Given the description of an element on the screen output the (x, y) to click on. 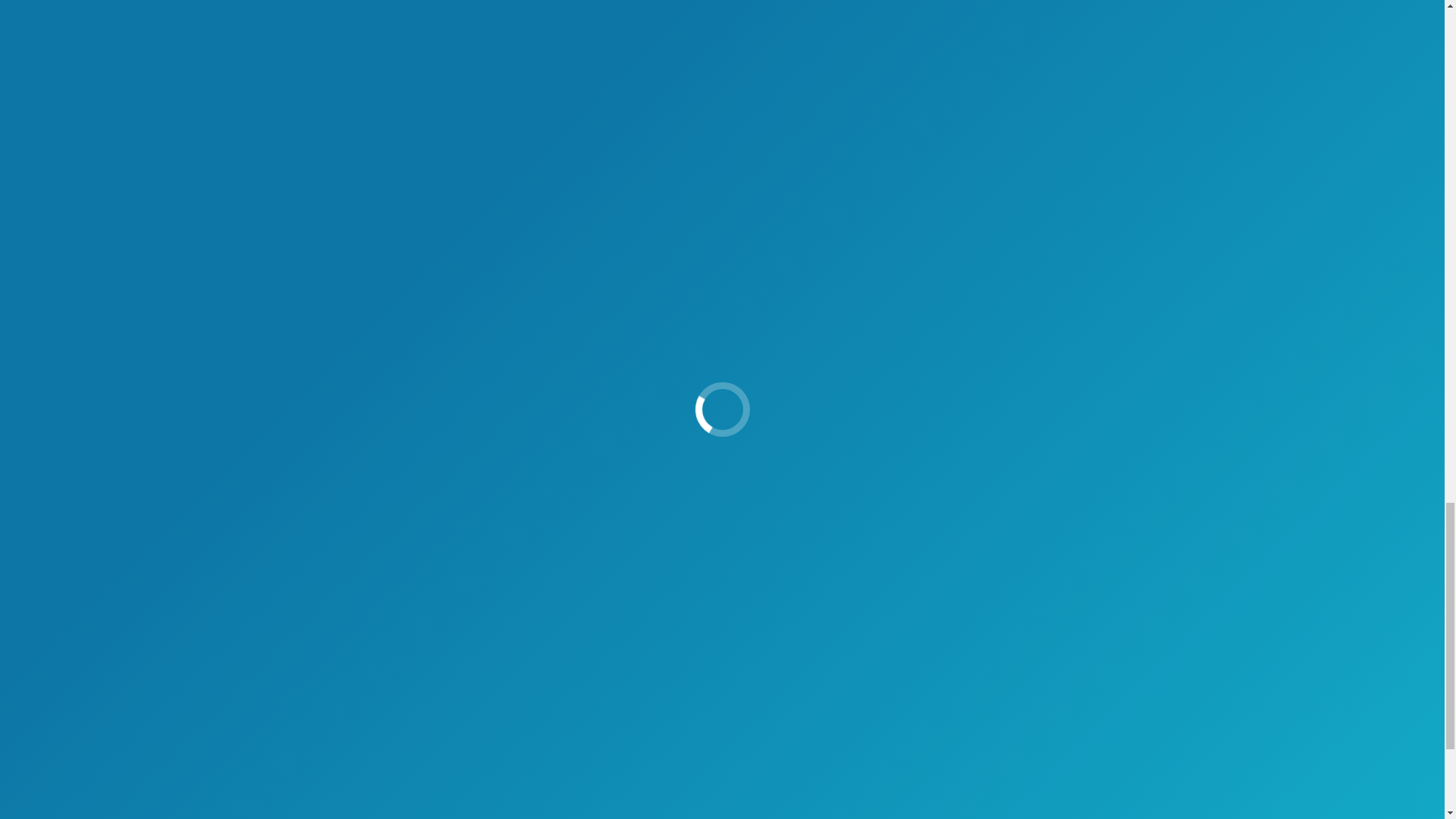
Employee Management (664, 317)
5 Ways to Improve Workplace Communication (453, 528)
7 Effective Ways to Communicate with Your Employees (1080, 538)
10 Effective Ways to Motivate Your Staff (1080, 433)
November 30, 2021 (960, 317)
Employee Communcation (551, 317)
8:30 am (960, 317)
Employee Productivity (770, 317)
